Given the description of an element on the screen output the (x, y) to click on. 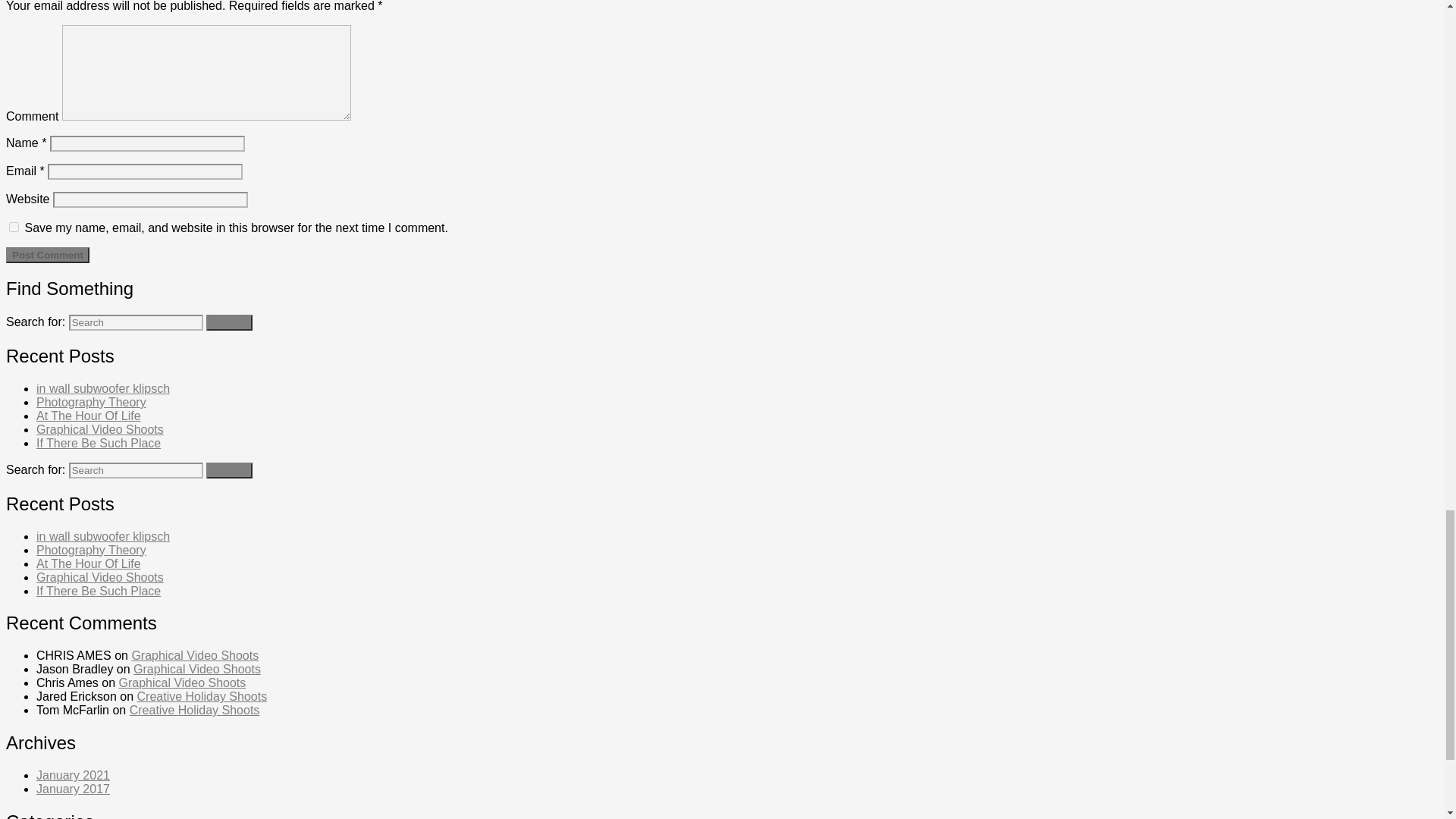
in wall subwoofer klipsch (103, 388)
in wall subwoofer klipsch (103, 535)
Search (228, 470)
Photography Theory (91, 401)
Search (228, 322)
At The Hour Of Life (88, 415)
Post Comment (46, 254)
yes (13, 226)
Search for: (135, 470)
Search (228, 470)
If There Be Such Place (98, 442)
Post Comment (46, 254)
Search for: (135, 322)
Search (228, 470)
Graphical Video Shoots (99, 429)
